Given the description of an element on the screen output the (x, y) to click on. 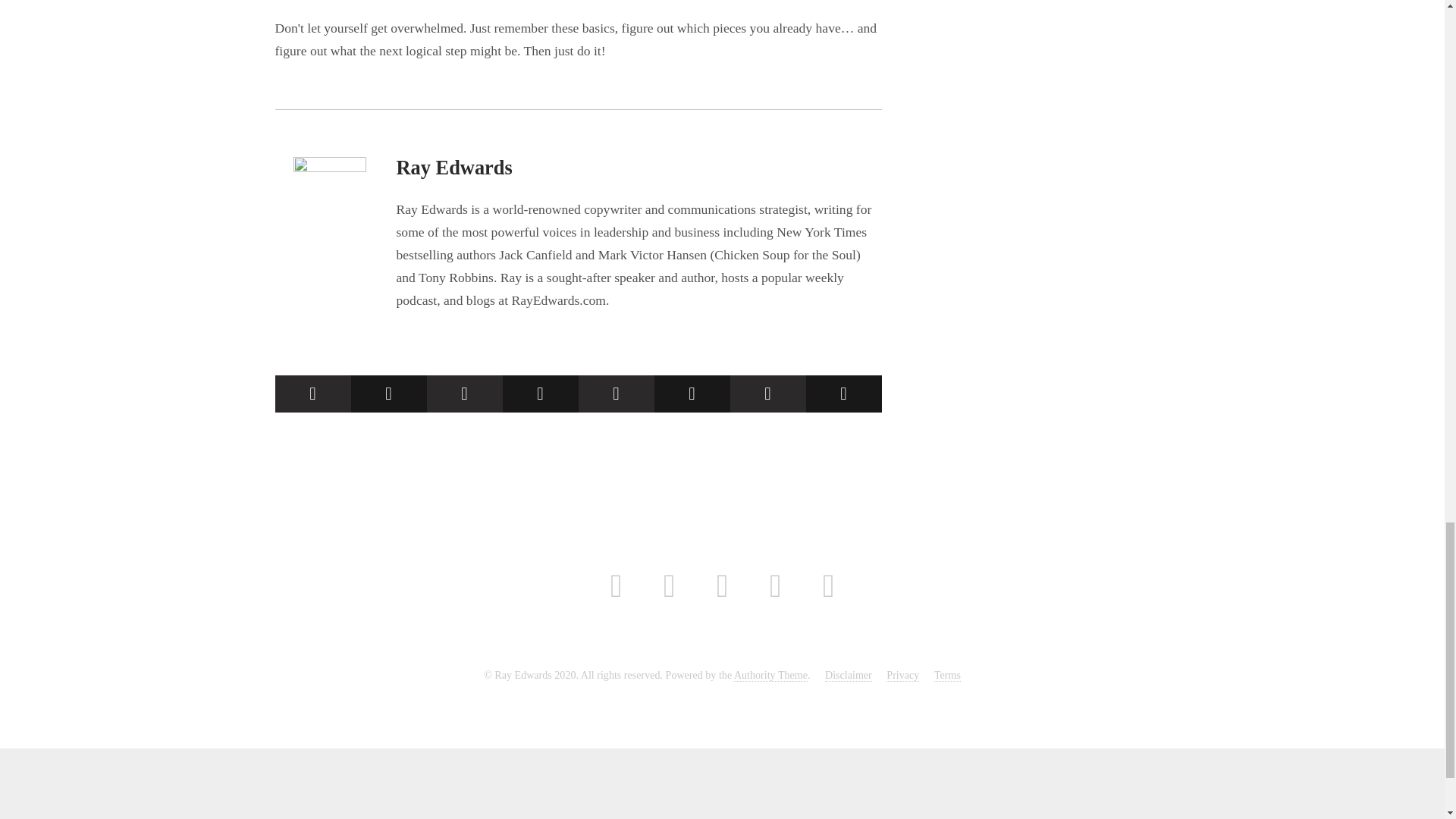
Posts by Ray Edwards (454, 167)
